Given the description of an element on the screen output the (x, y) to click on. 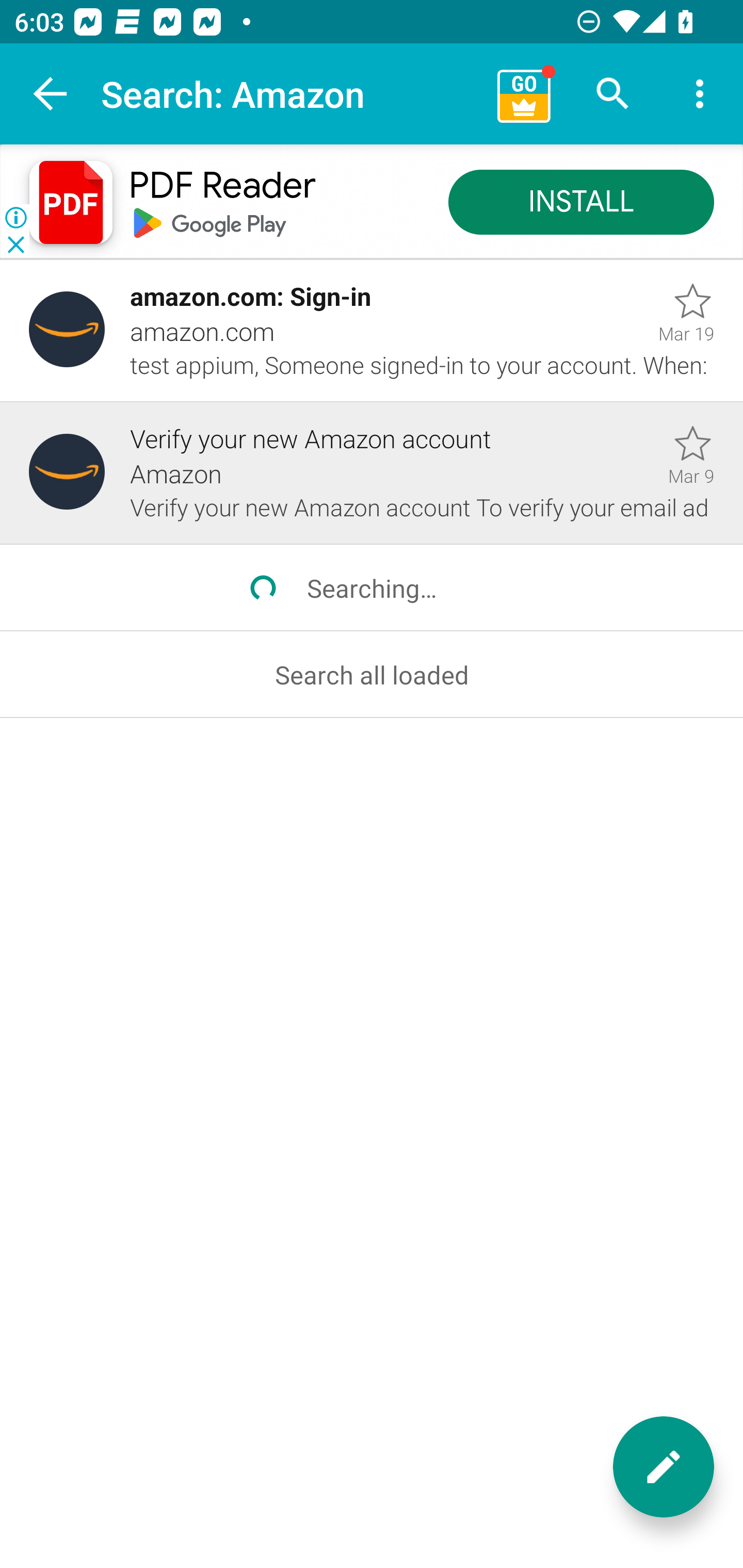
Navigate up (50, 93)
Search (612, 93)
More options (699, 93)
Searching… (371, 587)
Search all loaded (371, 674)
New message (663, 1466)
